Given the description of an element on the screen output the (x, y) to click on. 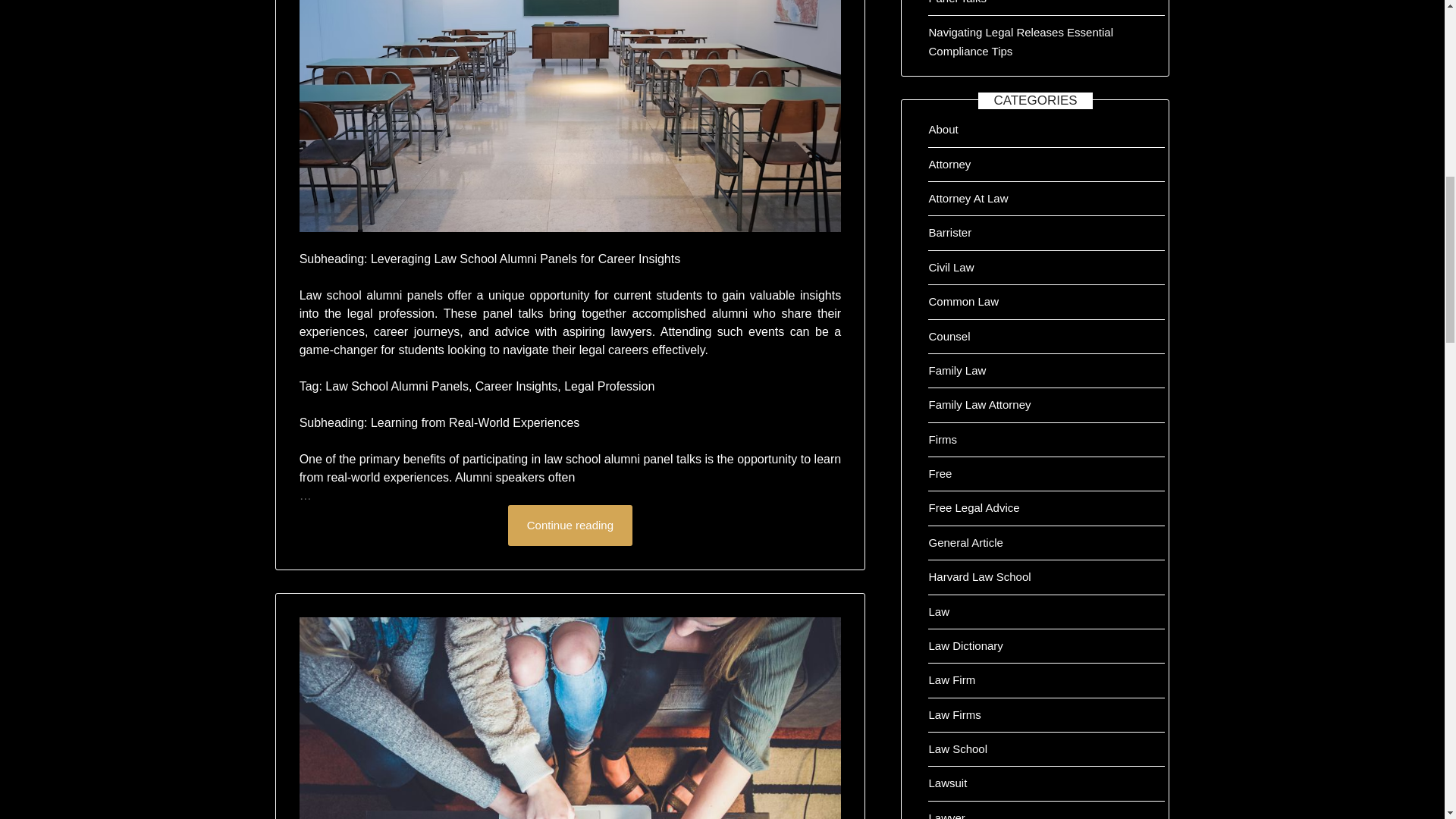
Continue reading (569, 525)
Elevating Skills Law School Mock Trial Competitions (570, 718)
Network with Success Law School Alumni Panel Talks (570, 115)
